Given the description of an element on the screen output the (x, y) to click on. 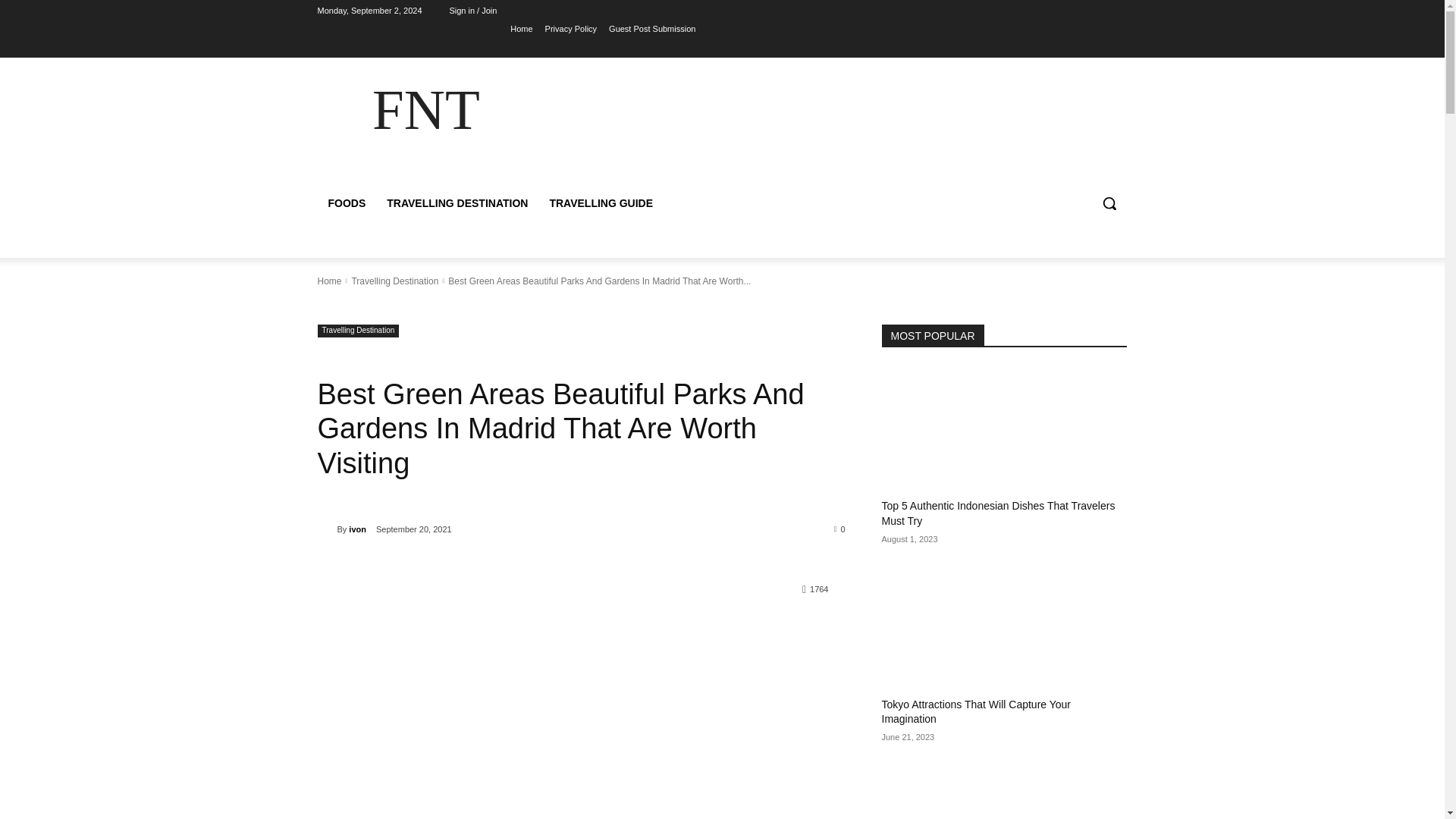
0 (839, 528)
TRAVELLING GUIDE (600, 203)
Privacy Policy (570, 28)
Guest Post Submission (651, 28)
Travelling Destination (357, 330)
FNT (425, 109)
View all posts in Travelling Destination (394, 281)
ivon (326, 529)
TRAVELLING DESTINATION (456, 203)
Travelling Destination (394, 281)
